Given the description of an element on the screen output the (x, y) to click on. 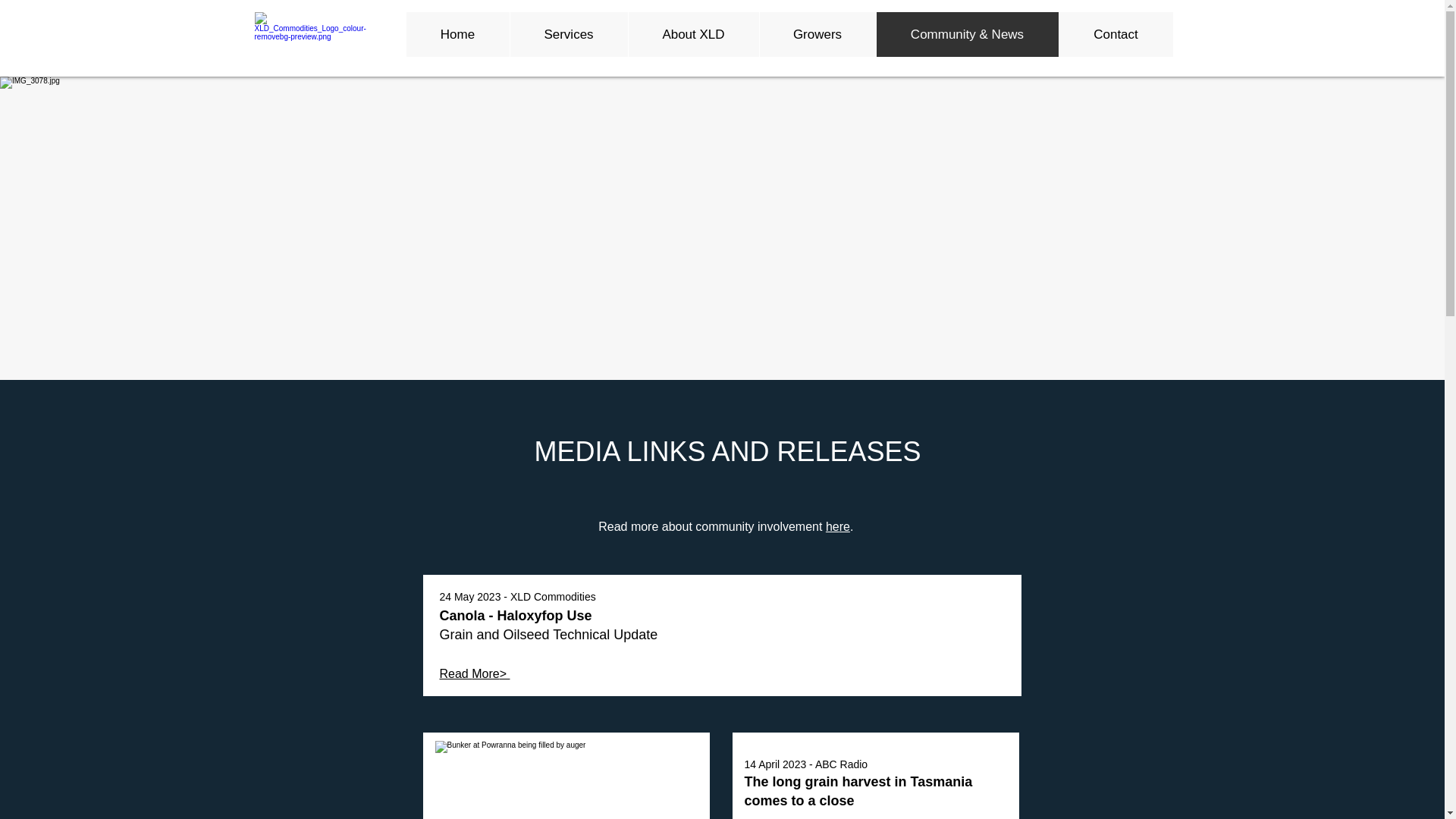
Read more about community involvement here.  (727, 514)
Services (568, 34)
Home (457, 34)
Contact (1115, 34)
Growers (816, 34)
About XLD (692, 34)
